Given the description of an element on the screen output the (x, y) to click on. 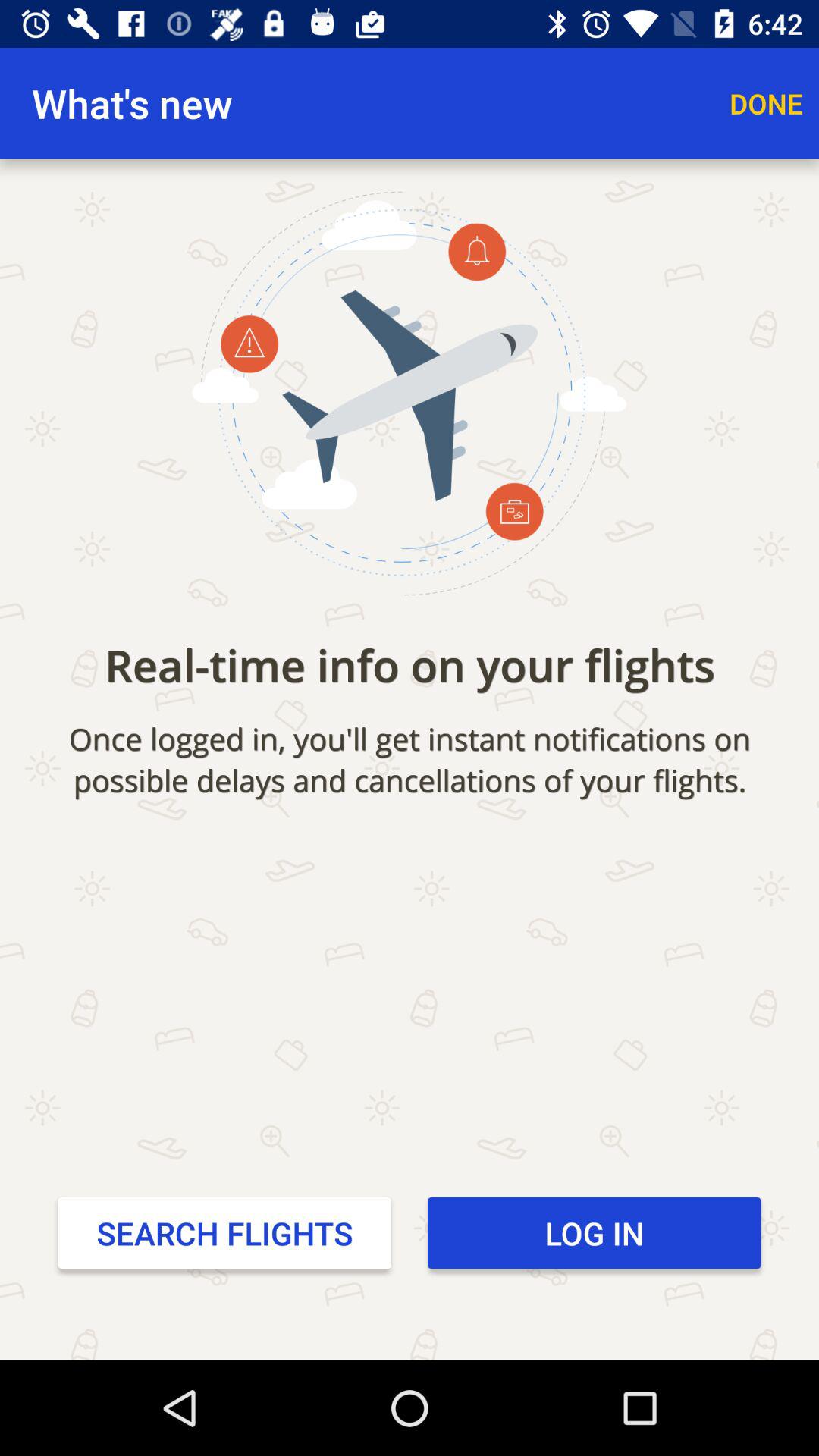
launch icon at the top right corner (766, 103)
